Given the description of an element on the screen output the (x, y) to click on. 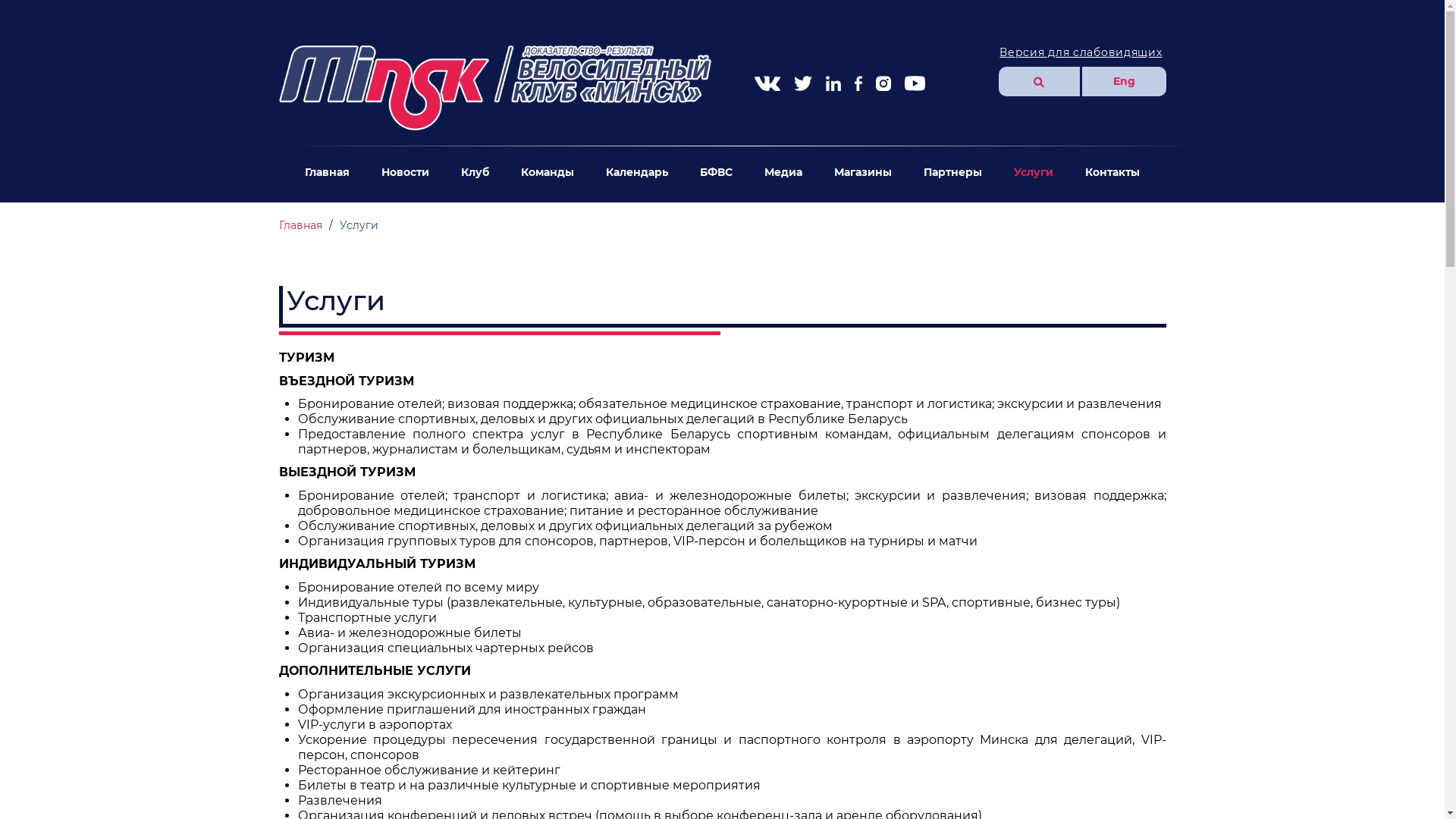
Eng Element type: text (1123, 81)
